Given the description of an element on the screen output the (x, y) to click on. 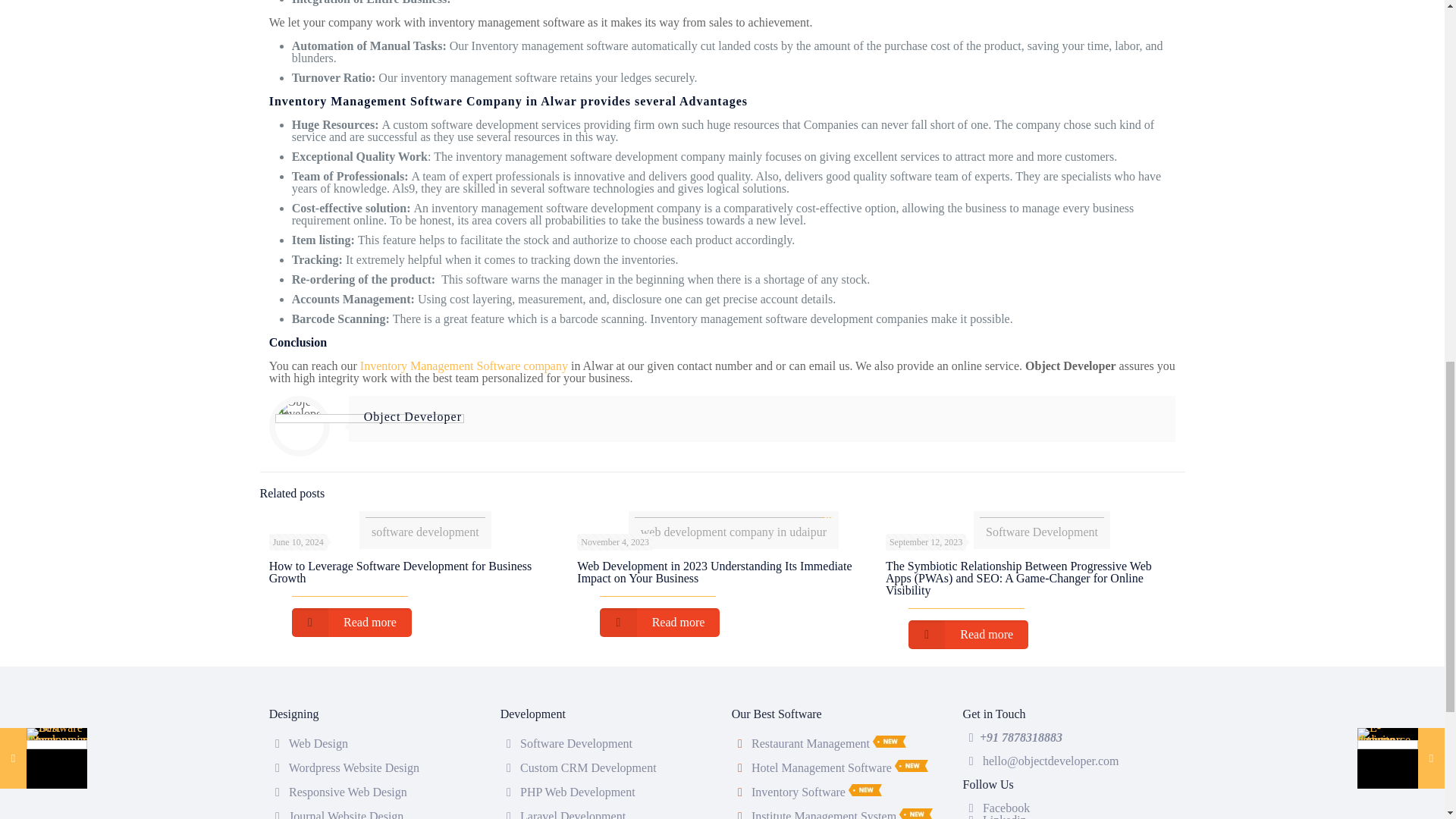
Best Web Design Company in Udaipur (317, 743)
Best Software Development Company in Udaipur (575, 743)
Best Software Development Company in Udaipur (424, 522)
Best CRM Software Development Company in Udaipur (587, 767)
Best Php Web Development Company in Udaipur (576, 791)
Best Software Development Company in Udaipur (733, 522)
Responsive Web Design Company in Udaipur (347, 791)
Best Wordpress Website Design Company in Udaipur (353, 767)
Best Software Development Company in Udaipur (1041, 522)
Best Journal Website Design Company in Udaipur (345, 814)
